Given the description of an element on the screen output the (x, y) to click on. 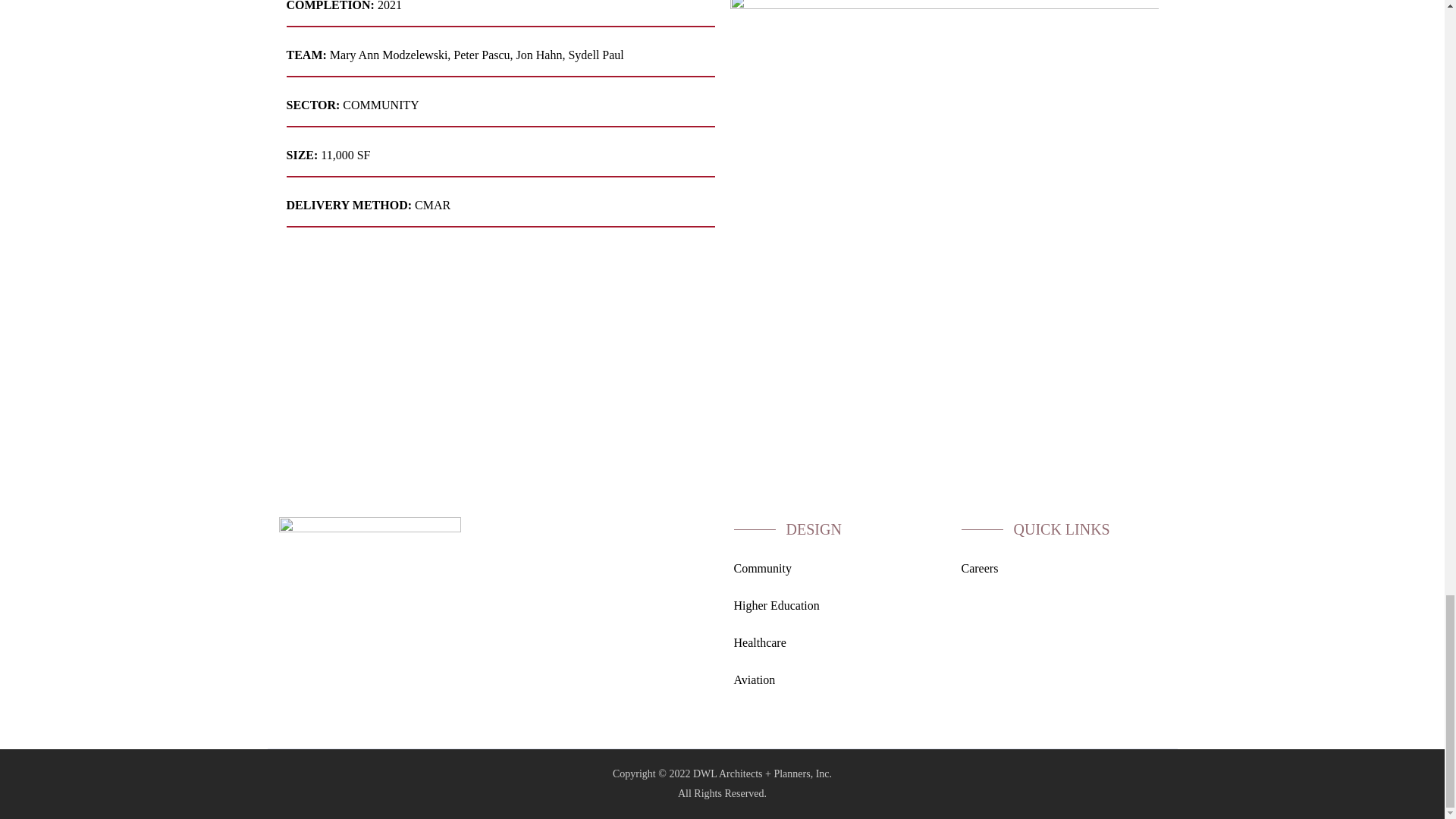
Community (762, 567)
Peter Pascu (480, 54)
Careers (979, 567)
Sydell Paul (595, 54)
Aviation (754, 679)
Higher Education (776, 604)
Healthcare (759, 642)
Mary Ann Modzelewski (389, 54)
Jon Hahn (539, 54)
COMMUNITY (380, 104)
